Given the description of an element on the screen output the (x, y) to click on. 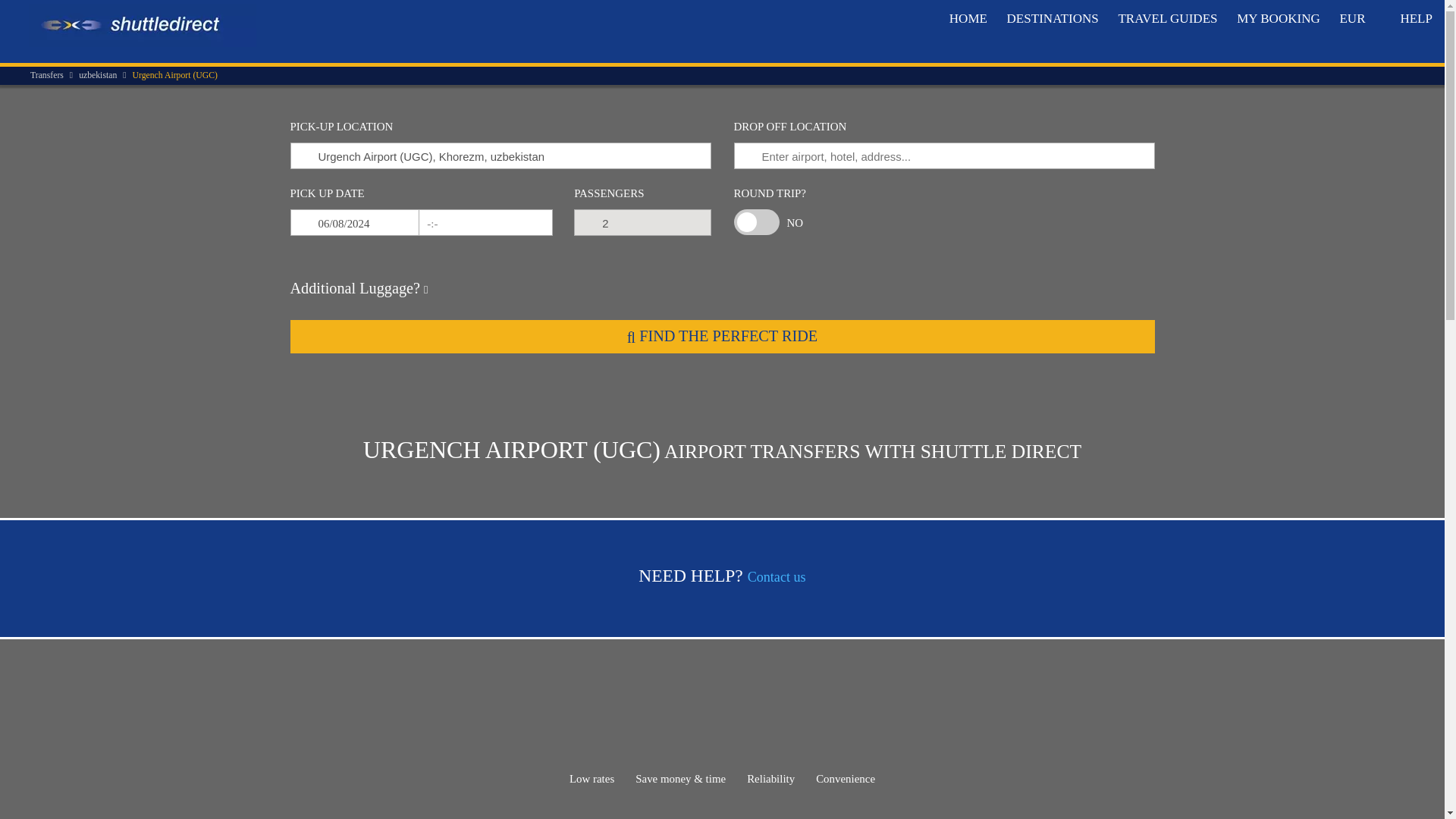
Transfers (54, 75)
TRAVEL GUIDES (1167, 18)
ShuttleDirect (142, 25)
DESTINATIONS (1052, 18)
HOME (968, 18)
2 (642, 223)
-:- (483, 223)
MY BOOKING (1278, 18)
FIND THE PERFECT RIDE (721, 336)
NEED HELP? Contact us (722, 575)
uzbekistan (105, 75)
HELP (1416, 18)
EUR (1360, 18)
